Given the description of an element on the screen output the (x, y) to click on. 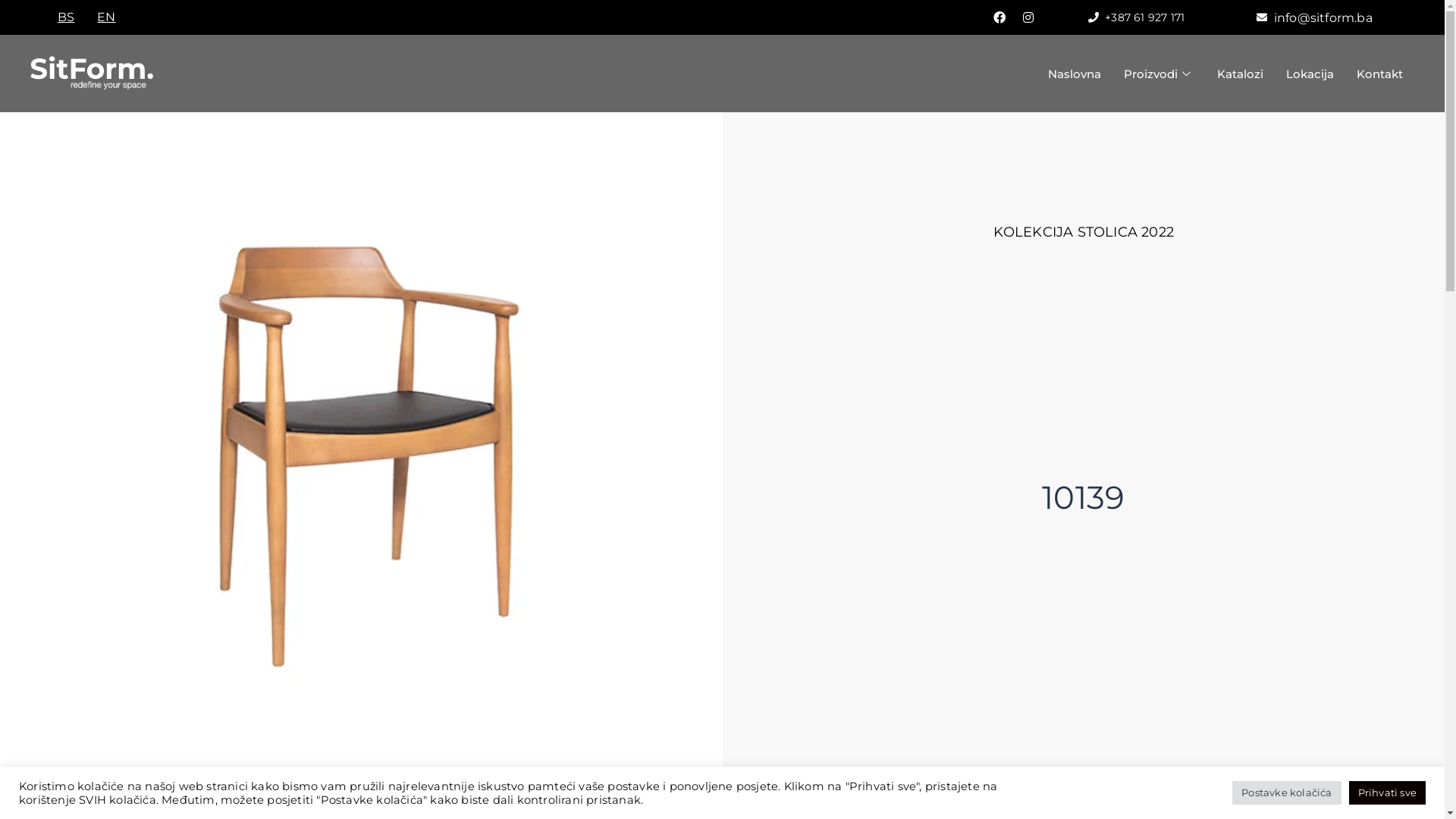
+387 61 927 171 Element type: text (1136, 16)
Prihvati sve Element type: text (1387, 792)
Kontakt Element type: text (1379, 73)
Naslovna Element type: text (1074, 73)
Katalozi Element type: text (1239, 73)
KOLEKCIJA STOLICA 2022 Element type: text (1083, 231)
Proizvodi Element type: text (1158, 73)
BS Element type: text (65, 17)
Lokacija Element type: text (1309, 73)
info@sitform.ba Element type: text (1314, 16)
EN Element type: text (105, 17)
